Given the description of an element on the screen output the (x, y) to click on. 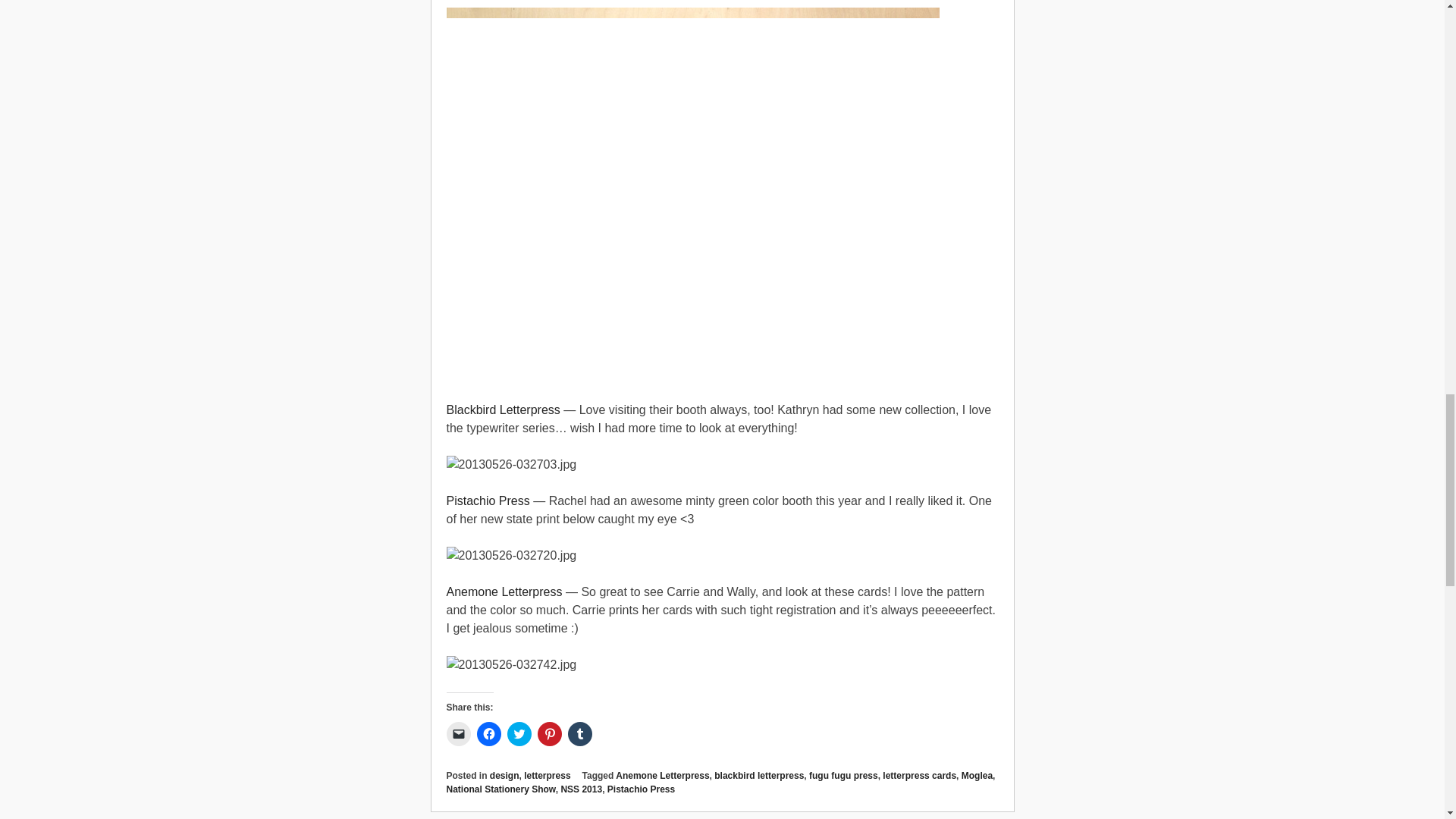
Click to share on Tumblr (579, 733)
blackbird letterpress (758, 775)
Click to share on Twitter (518, 733)
Pistachio Press (487, 500)
design (504, 775)
Click to email a link to a friend (457, 733)
letterpress (547, 775)
Blackbird Letterpress (502, 409)
Anemone Letterpress (662, 775)
Anemone Letterpress (503, 591)
Click to share on Pinterest (548, 733)
Click to share on Facebook (488, 733)
